Given the description of an element on the screen output the (x, y) to click on. 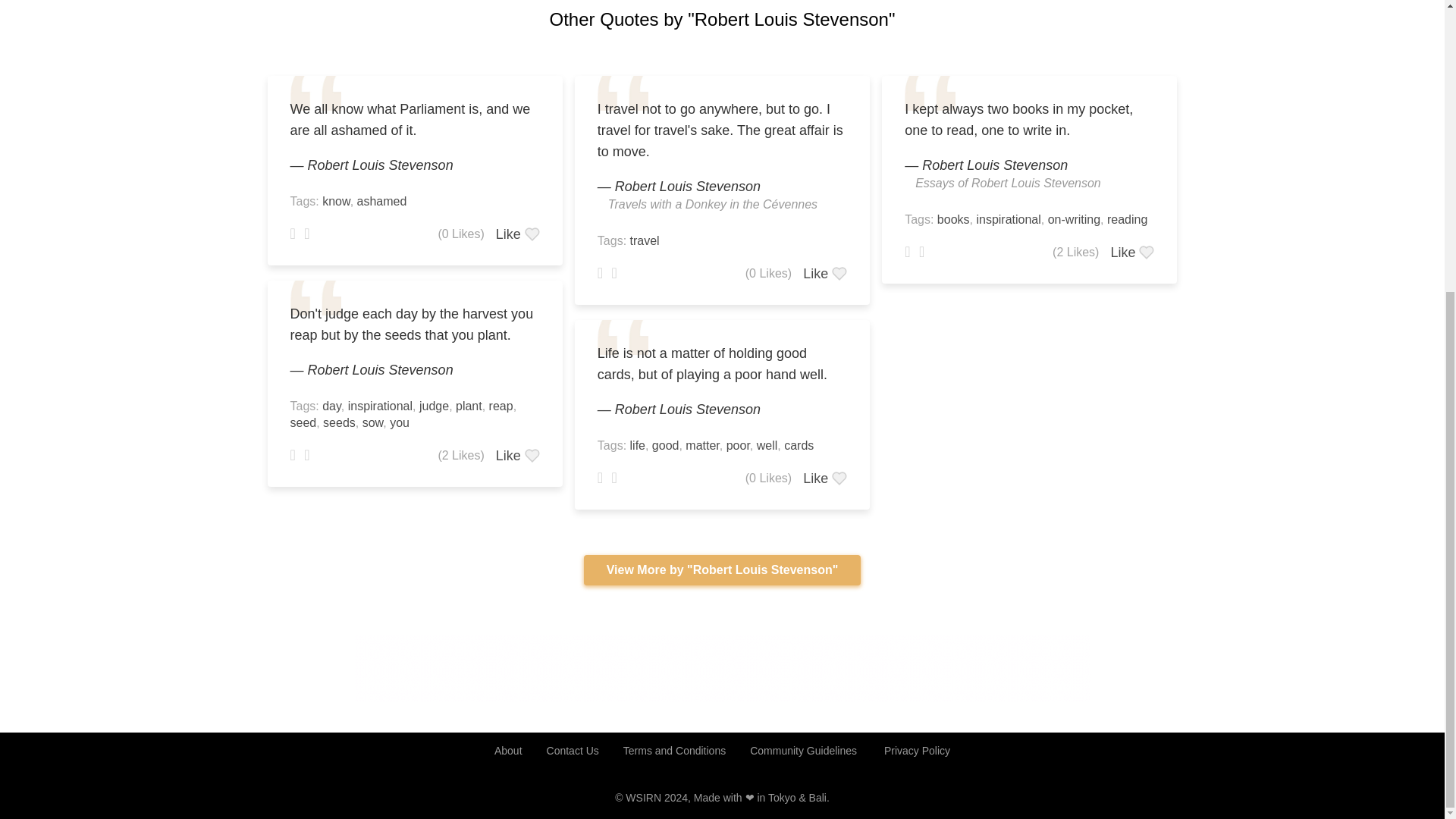
seeds (339, 422)
seed (302, 422)
judge (433, 405)
reap (501, 405)
you (399, 422)
3rd party ad content (722, 667)
sow (373, 422)
know (335, 201)
inspirational (379, 405)
